Given the description of an element on the screen output the (x, y) to click on. 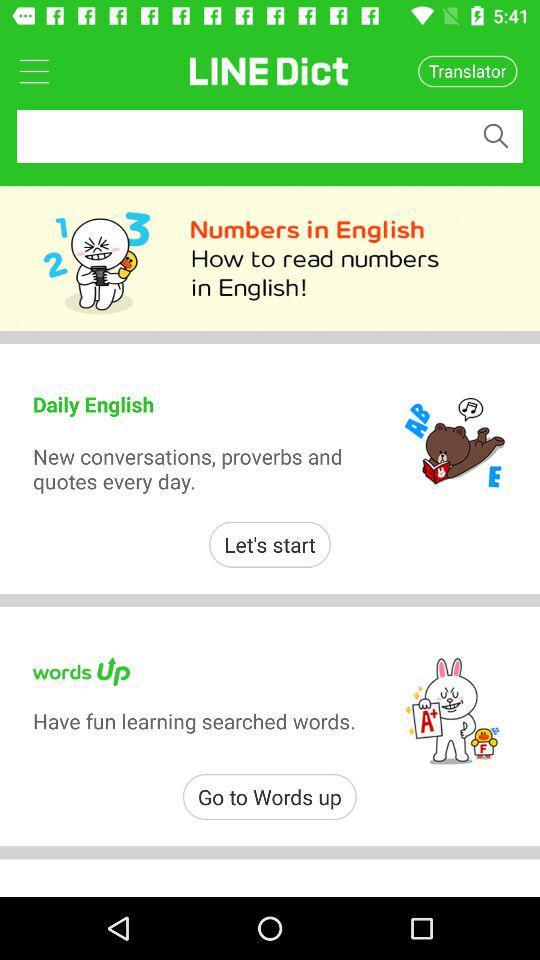
open main menu (33, 70)
